Given the description of an element on the screen output the (x, y) to click on. 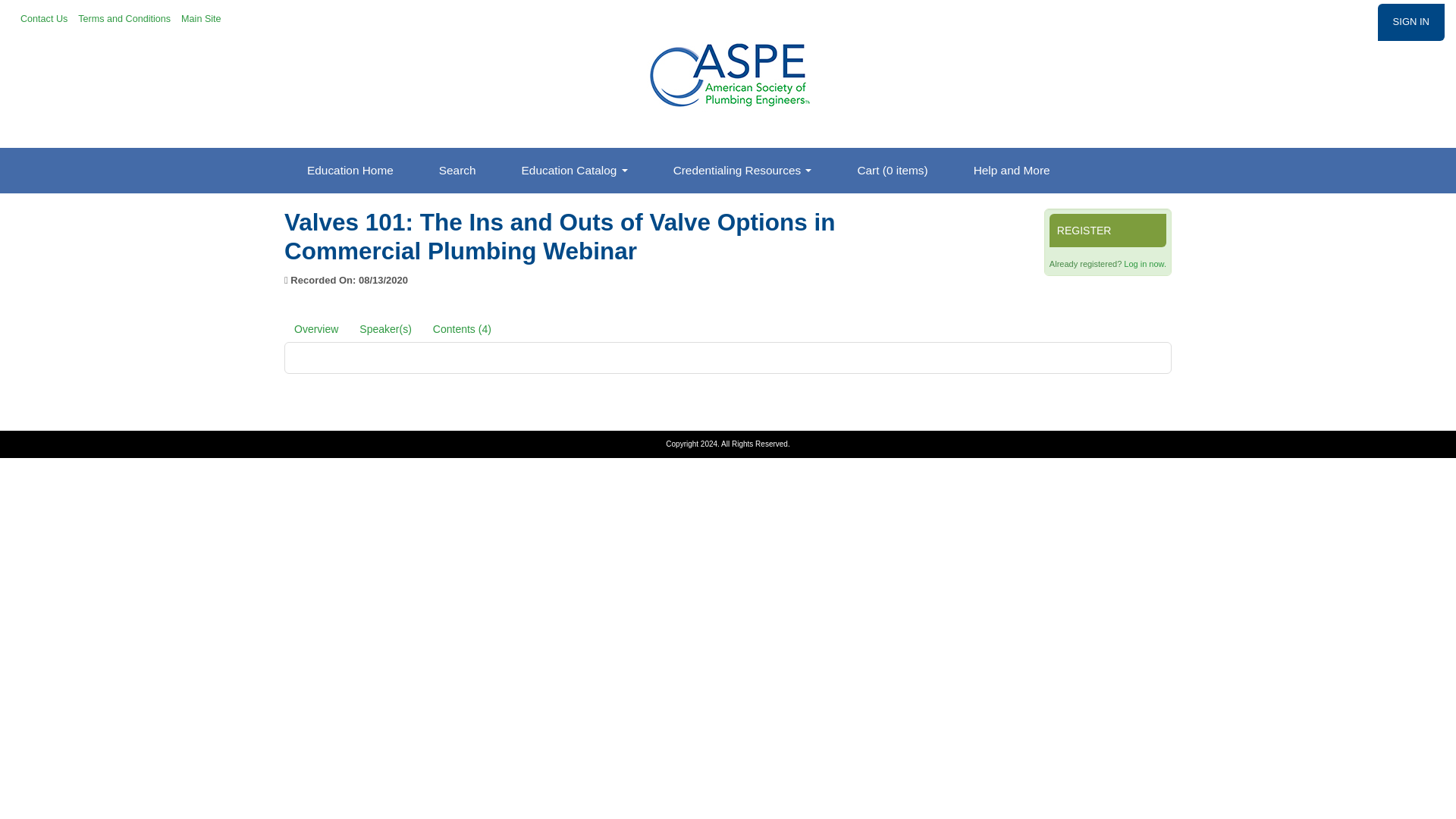
SIGN IN (1410, 22)
Contact Us (44, 18)
Log in now. (1145, 263)
Search (457, 170)
Overview (315, 328)
REGISTER (1107, 230)
Main Site (202, 18)
Credentialing Resources (742, 170)
Help and More (1011, 170)
Education Catalog (574, 170)
